Given the description of an element on the screen output the (x, y) to click on. 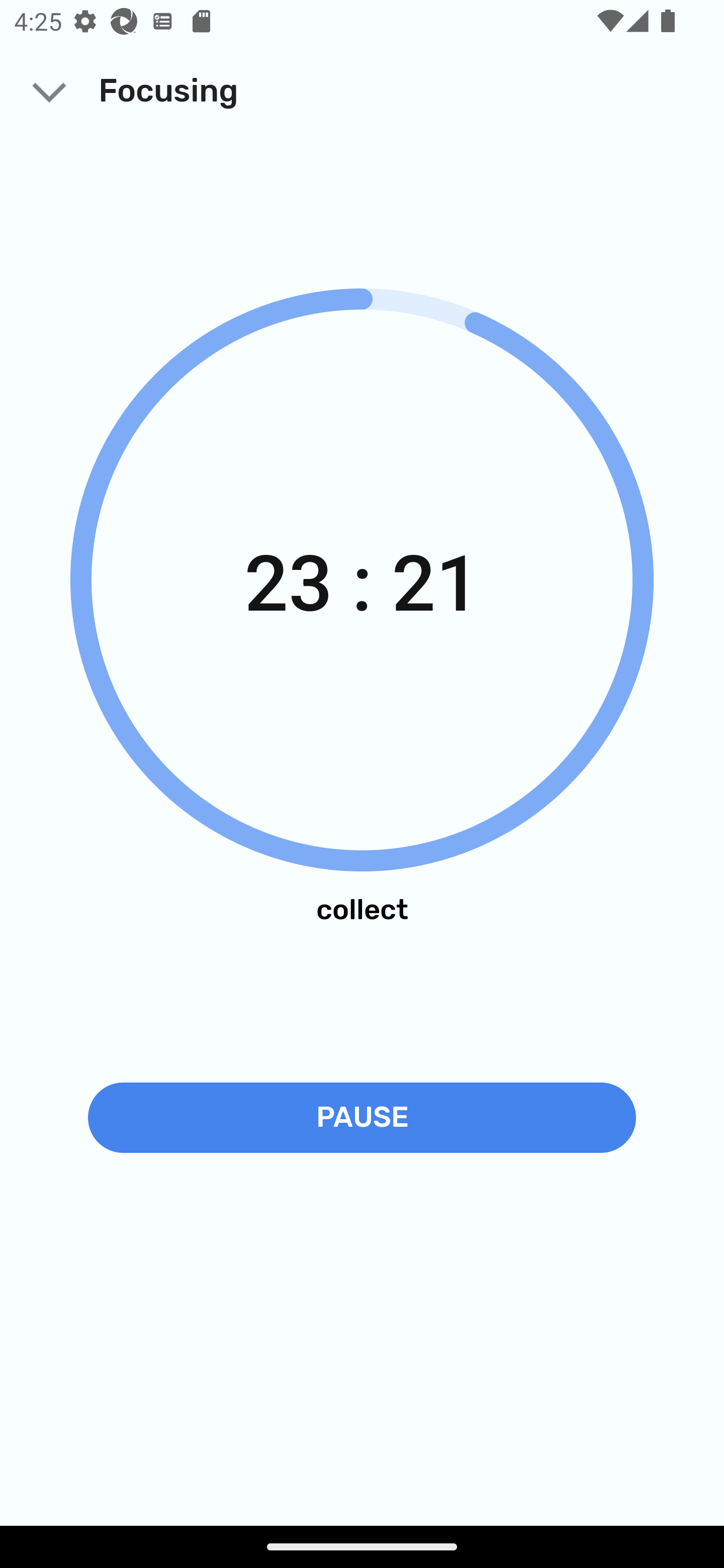
PAUSE (361, 1116)
